Given the description of an element on the screen output the (x, y) to click on. 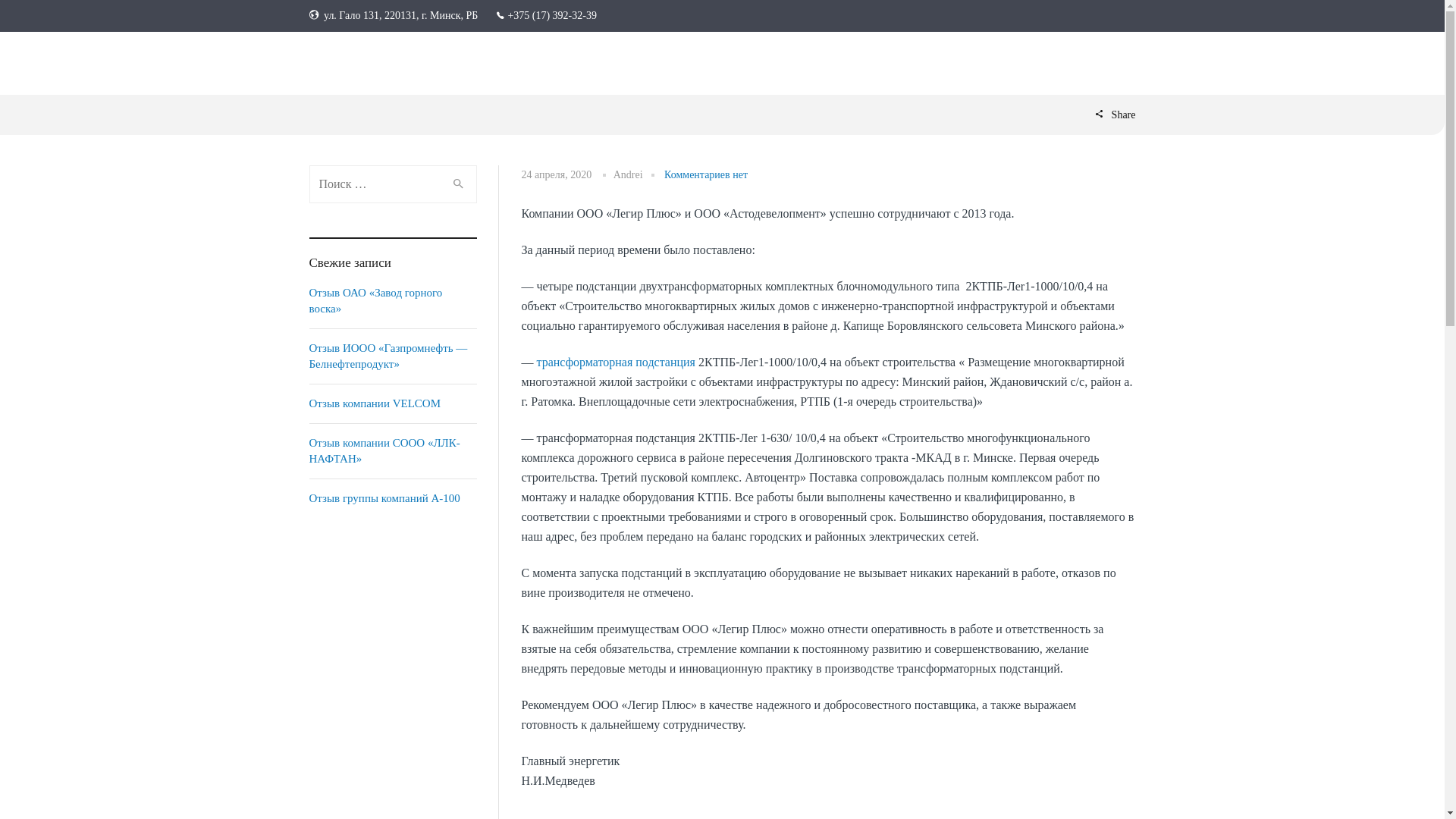
Search Element type: text (457, 184)
+375 (17) 392-32-39 Element type: text (551, 15)
